Given the description of an element on the screen output the (x, y) to click on. 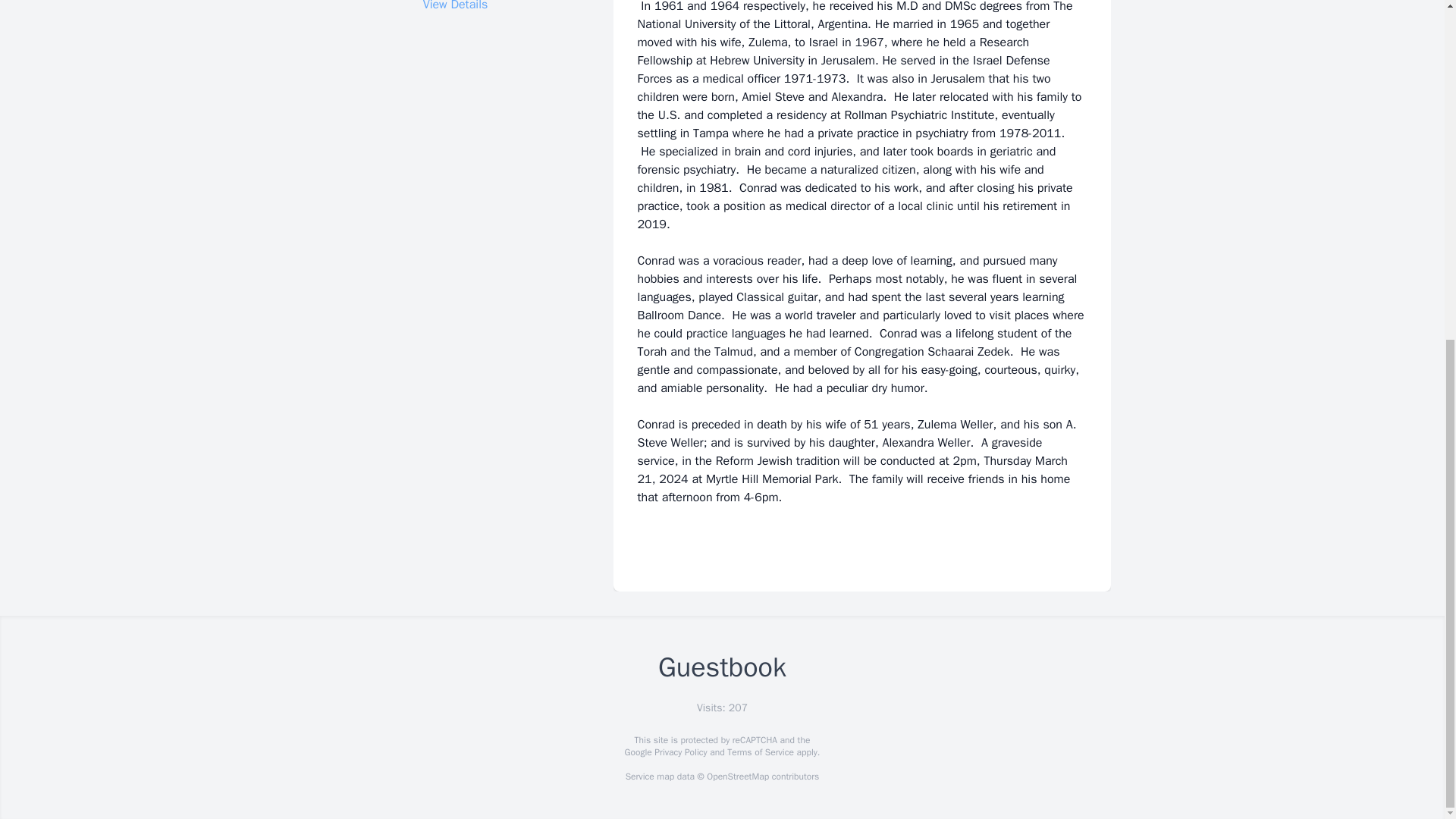
OpenStreetMap (737, 776)
Privacy Policy (679, 752)
View Details (455, 6)
Terms of Service (759, 752)
